Given the description of an element on the screen output the (x, y) to click on. 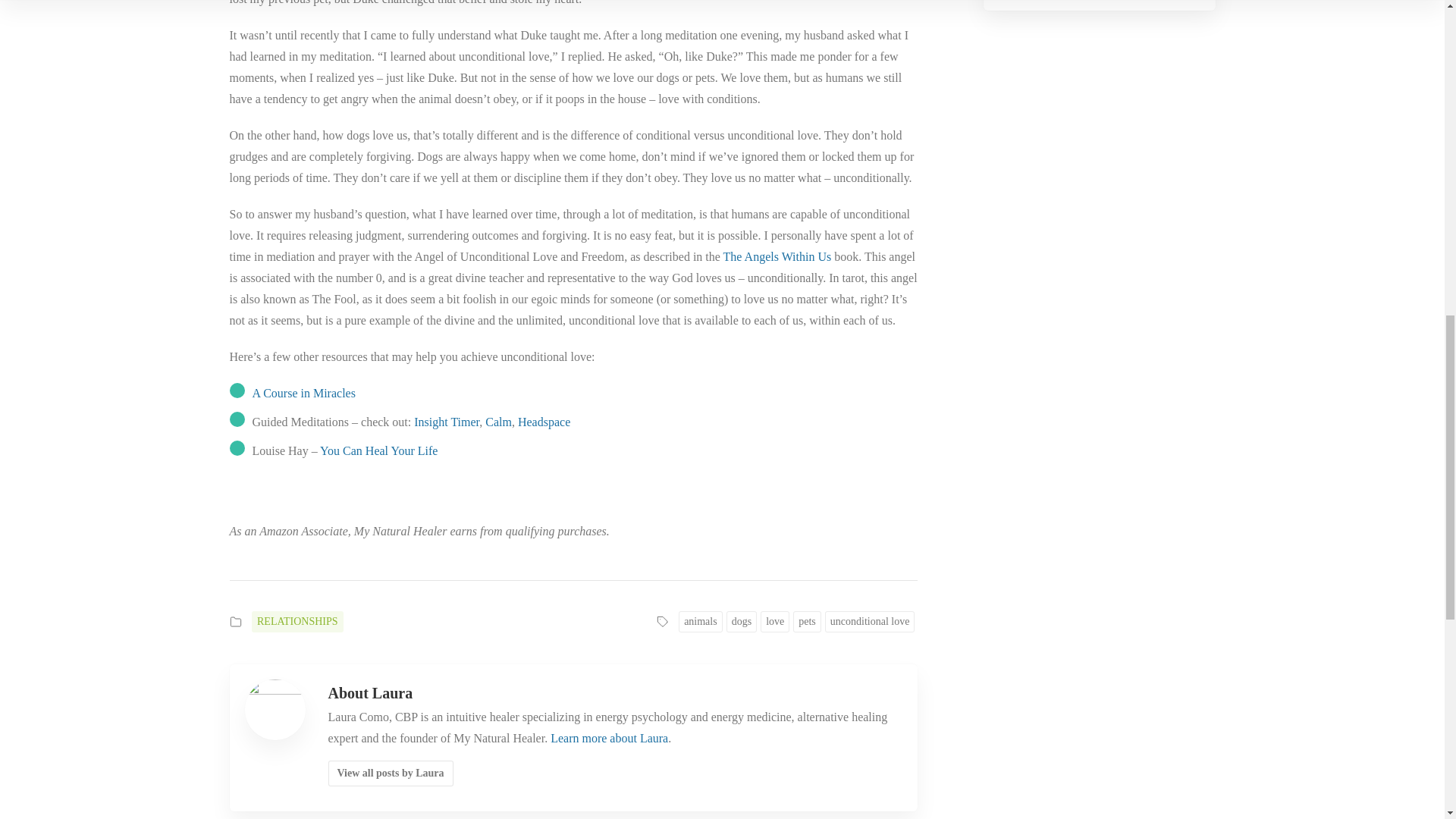
A Course in Miracles (303, 392)
Headspace (544, 421)
love (774, 621)
dogs (741, 621)
RELATIONSHIPS (297, 621)
View all posts by Laura (389, 773)
You Can Heal Your Life (379, 450)
Learn more about Laura (609, 738)
pets (807, 621)
The Angels Within Us (777, 256)
